Given the description of an element on the screen output the (x, y) to click on. 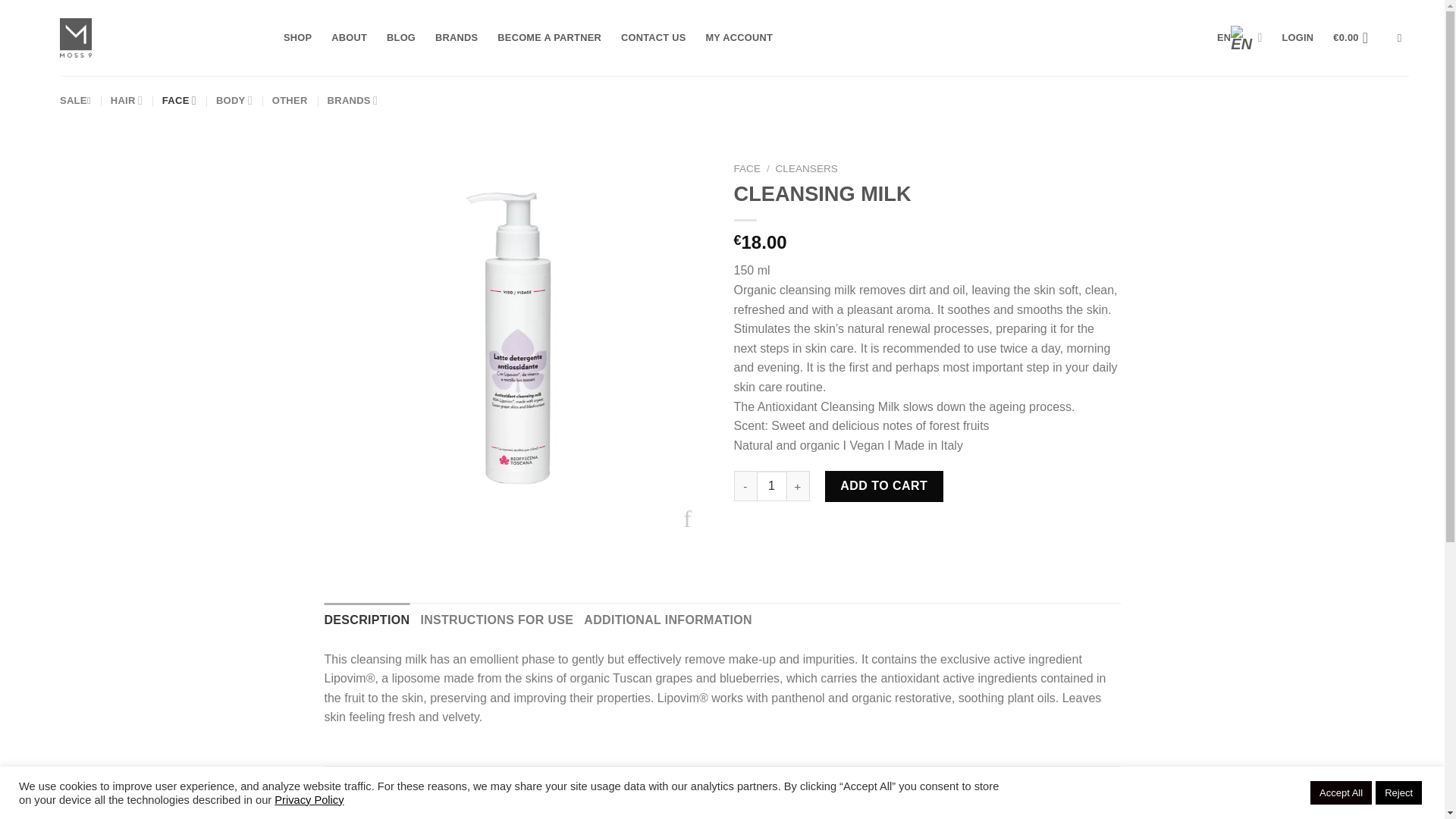
1 (772, 485)
Cart (1355, 37)
MY ACCOUNT (738, 37)
CONTACT US (653, 37)
ABOUT (348, 37)
BECOME A PARTNER (549, 37)
LOGIN (1298, 37)
BLOG (400, 37)
BRANDS (456, 37)
EN (1239, 37)
MOSS9 - Distributor of organic cosmetics (159, 38)
SHOP (297, 37)
